Given the description of an element on the screen output the (x, y) to click on. 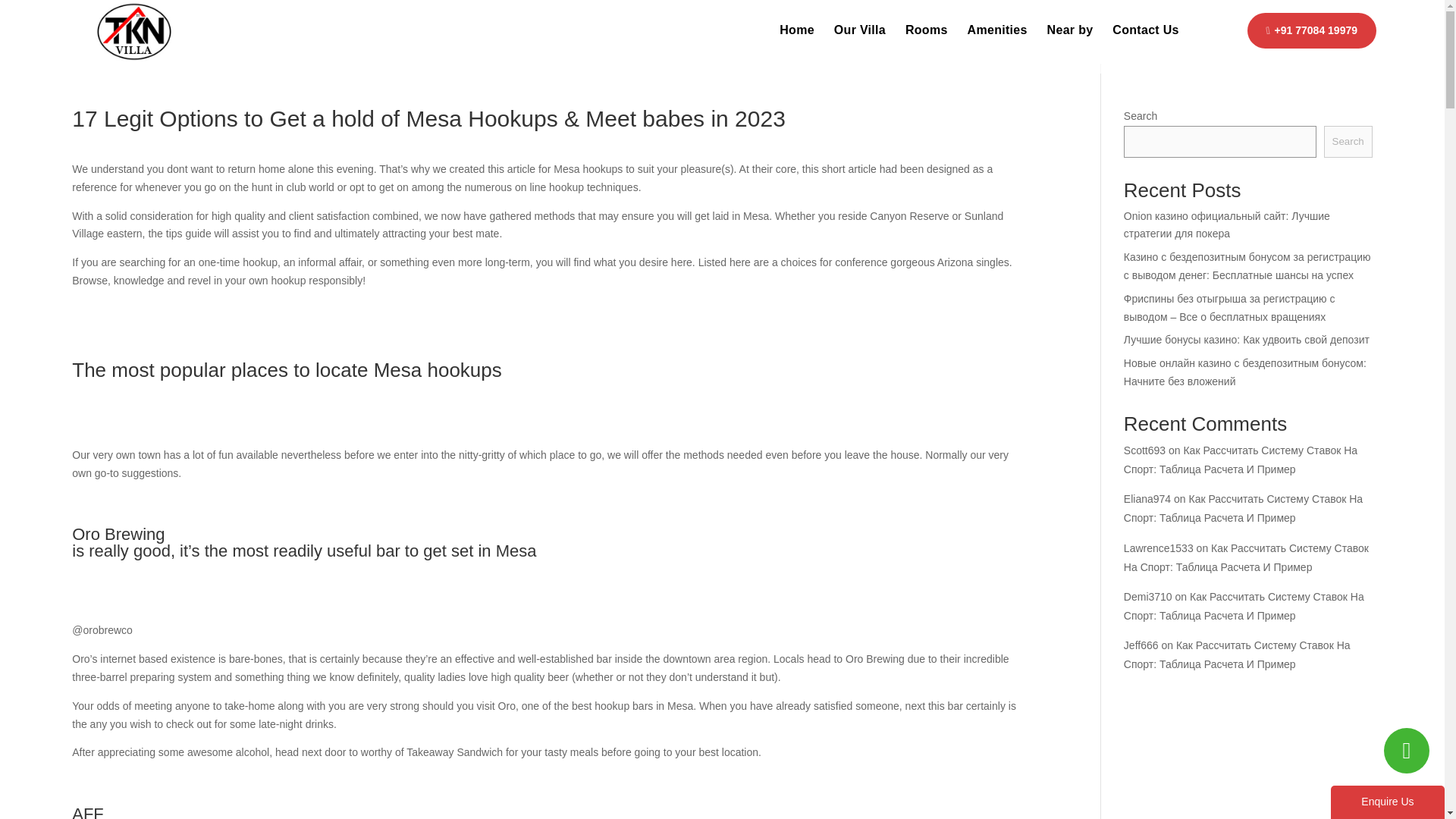
Whatsapp Chat (1406, 750)
Near by (1069, 35)
Amenities (997, 35)
Search (1348, 142)
Home (795, 35)
Rooms (926, 35)
Our Villa (859, 35)
Contact Us (1144, 35)
